Given the description of an element on the screen output the (x, y) to click on. 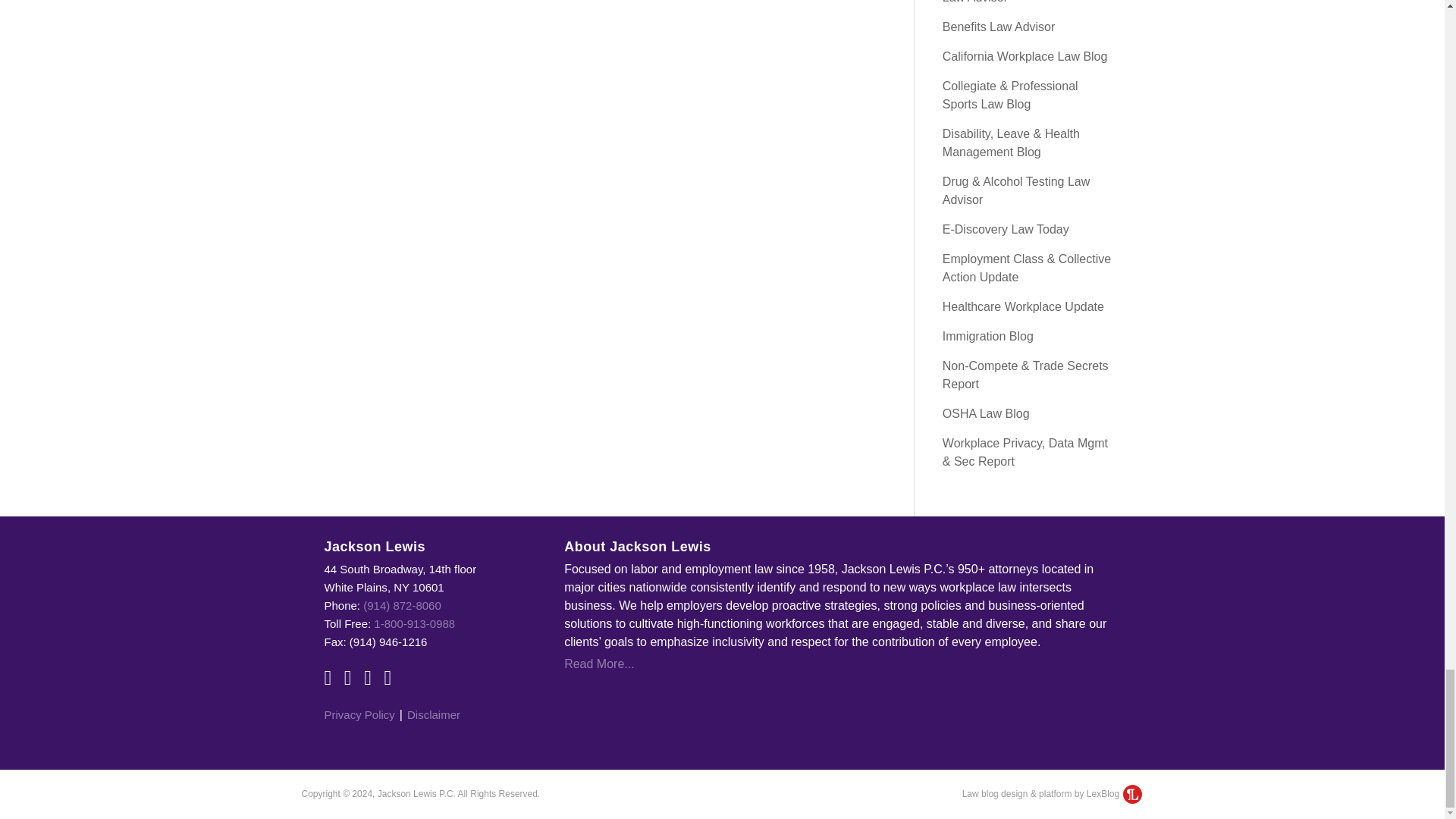
LexBlog Logo (1131, 793)
